Given the description of an element on the screen output the (x, y) to click on. 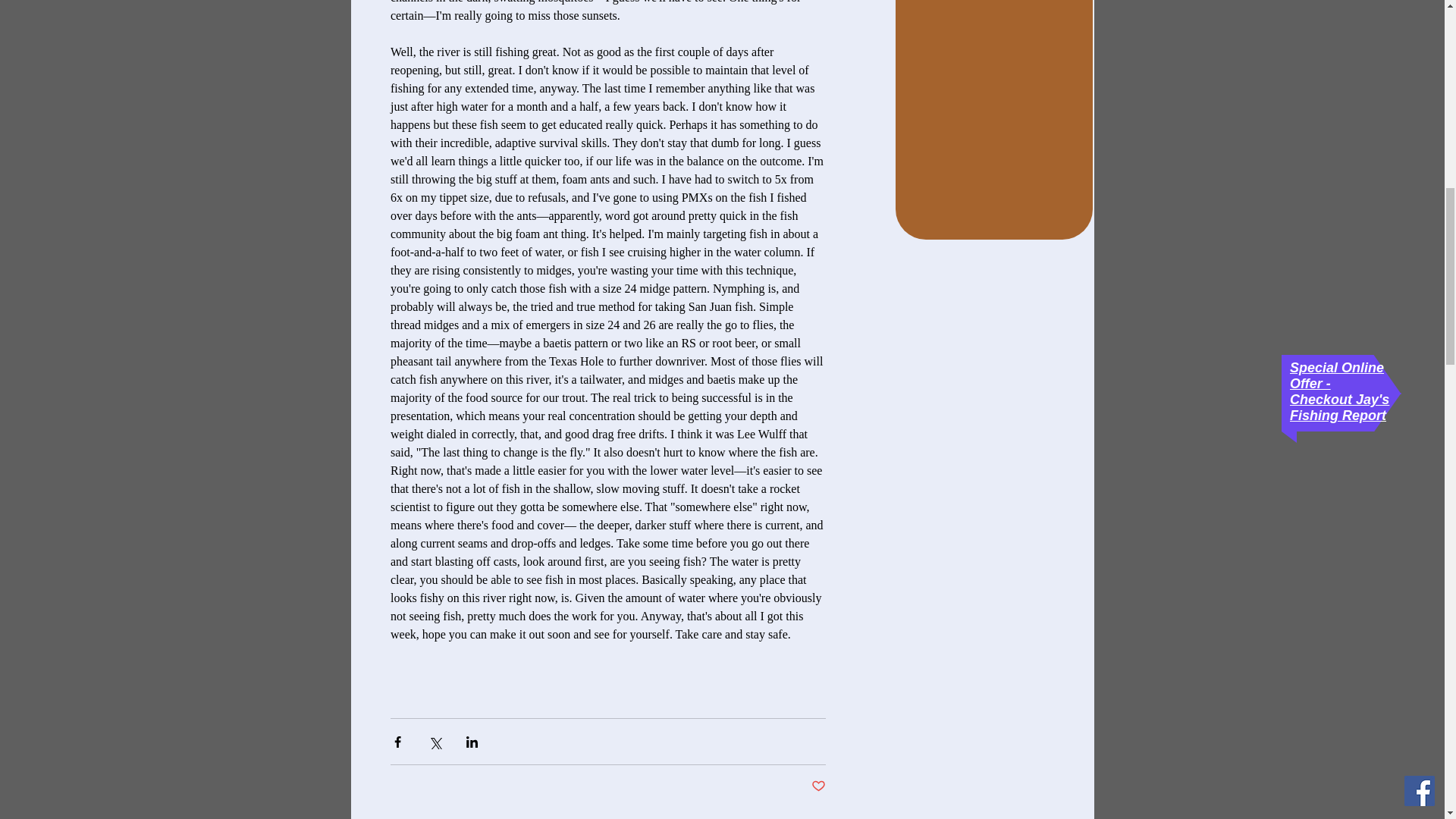
Post not marked as liked (817, 786)
